Given the description of an element on the screen output the (x, y) to click on. 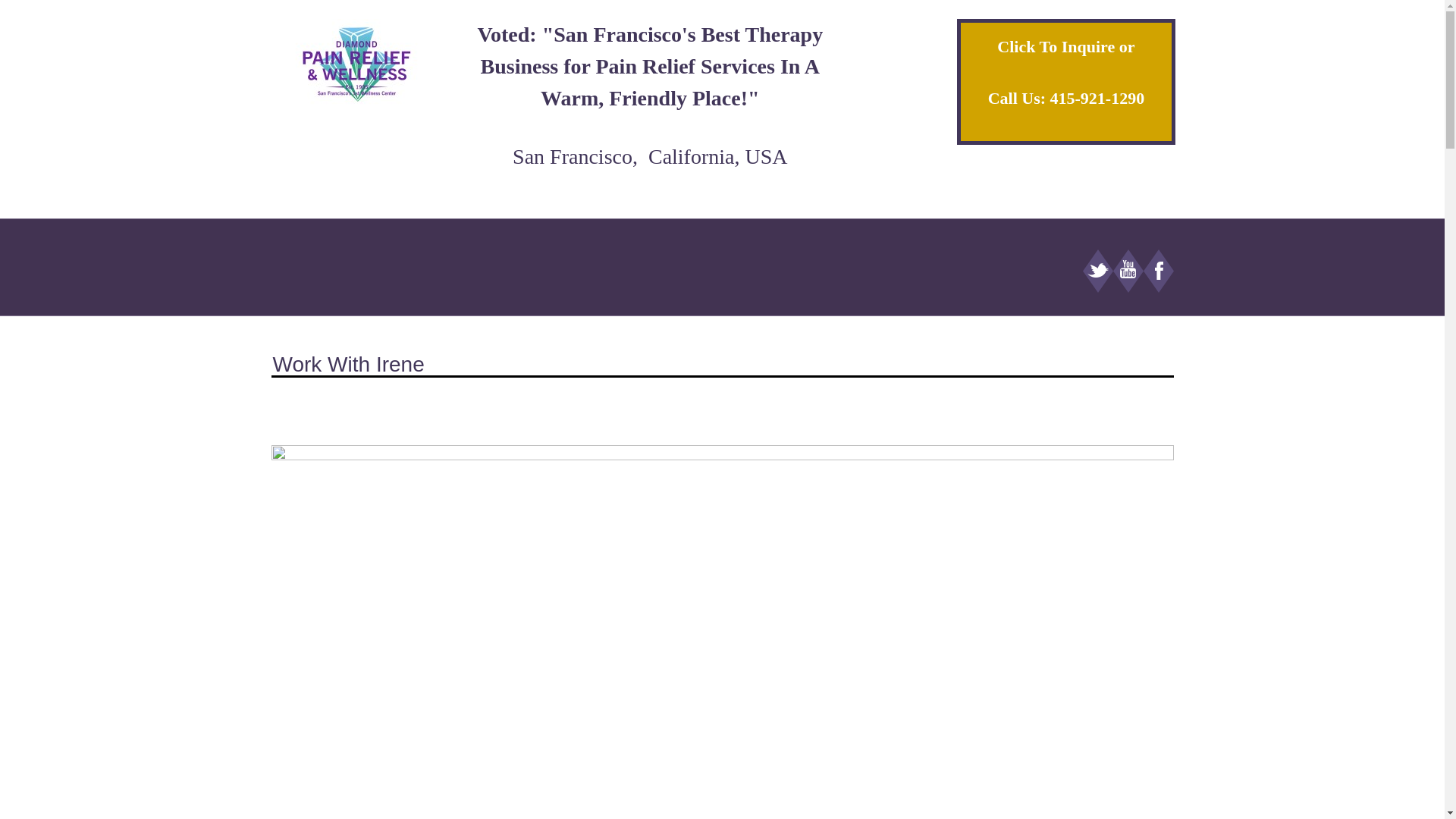
Click To Inquire (1056, 46)
Contact (1056, 46)
